Given the description of an element on the screen output the (x, y) to click on. 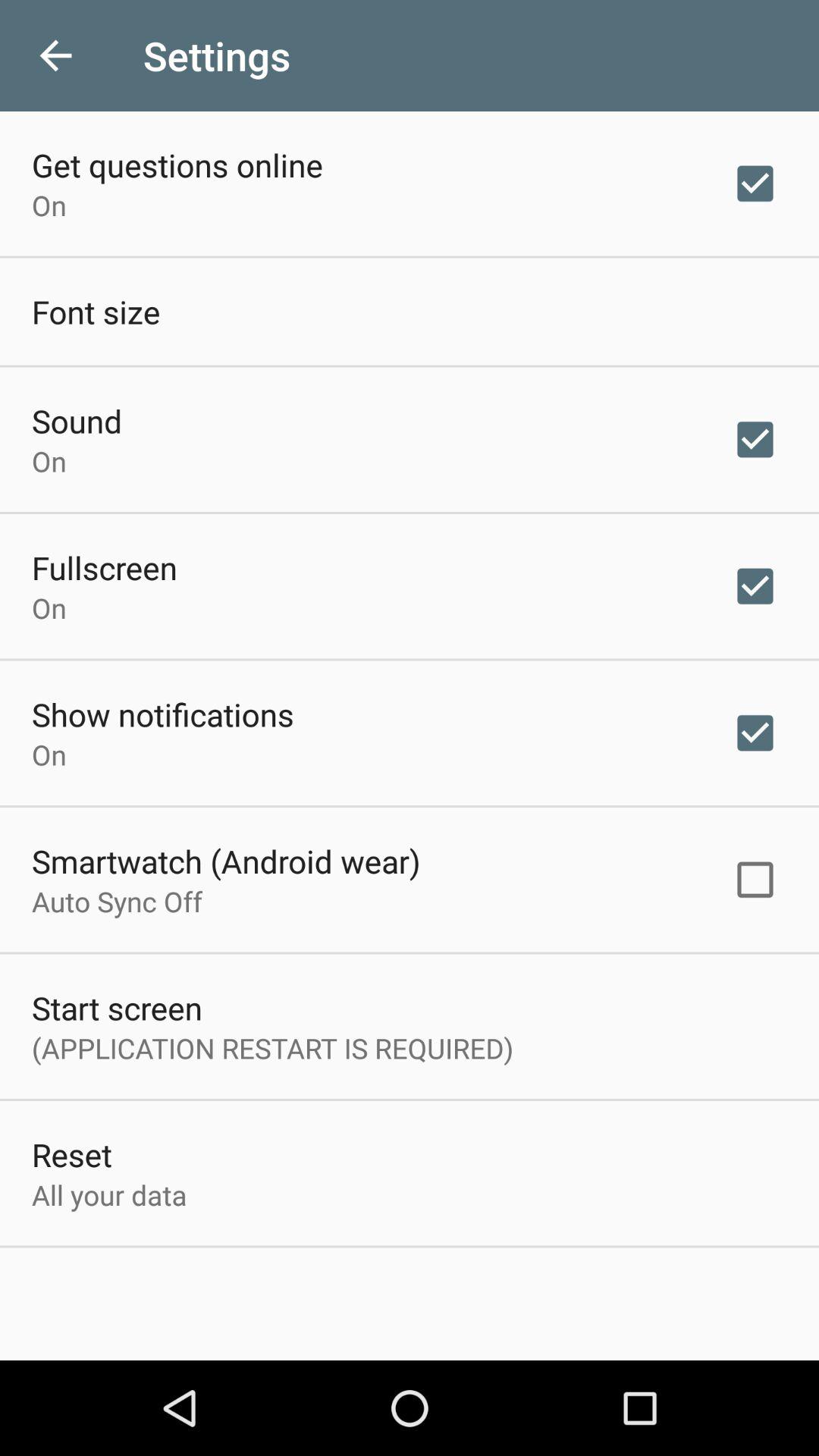
turn off the icon above all your data (71, 1154)
